Given the description of an element on the screen output the (x, y) to click on. 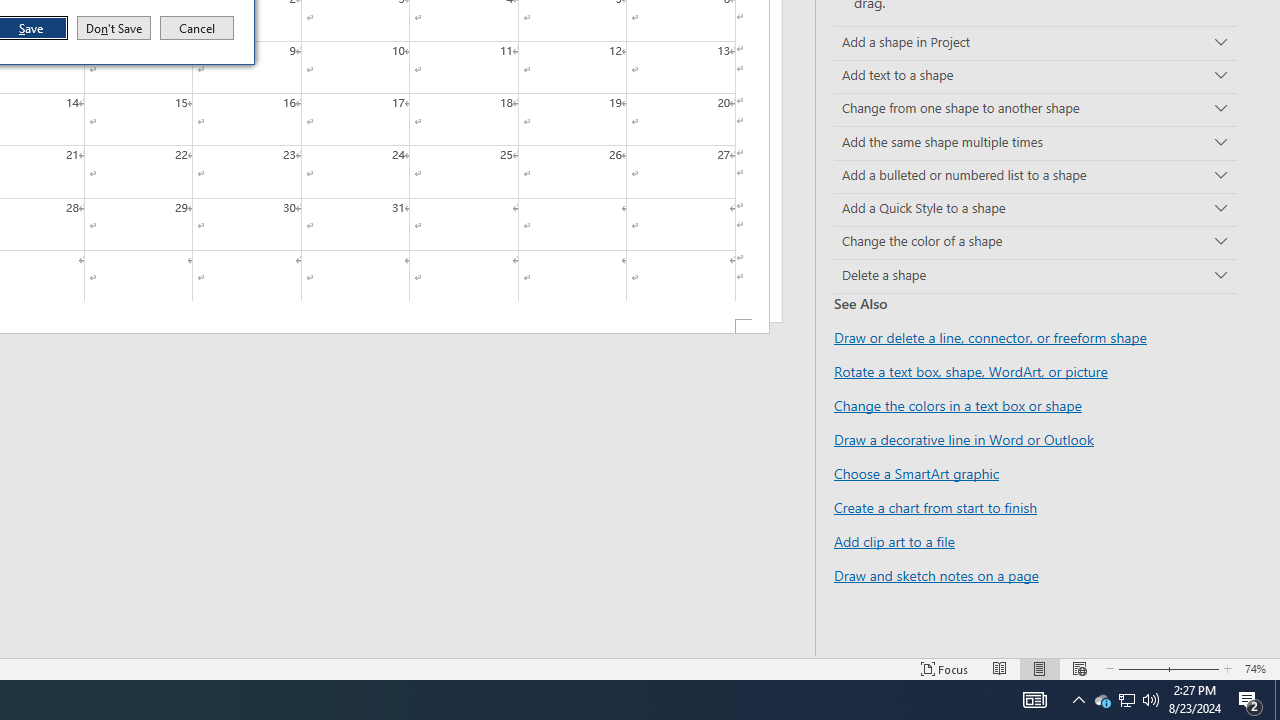
Add clip art to a file (894, 541)
Don't Save (113, 27)
Change from one shape to another shape (1035, 109)
Rotate a text box, shape, WordArt, or picture (971, 371)
Draw and sketch notes on a page (936, 574)
Add a shape in Project (1102, 699)
Add a bulleted or numbered list to a shape (1035, 43)
Notification Chevron (1035, 176)
Choose a SmartArt graphic (1078, 699)
Cancel (916, 473)
Draw or delete a line, connector, or freeform shape (197, 27)
Create a chart from start to finish (990, 337)
